Given the description of an element on the screen output the (x, y) to click on. 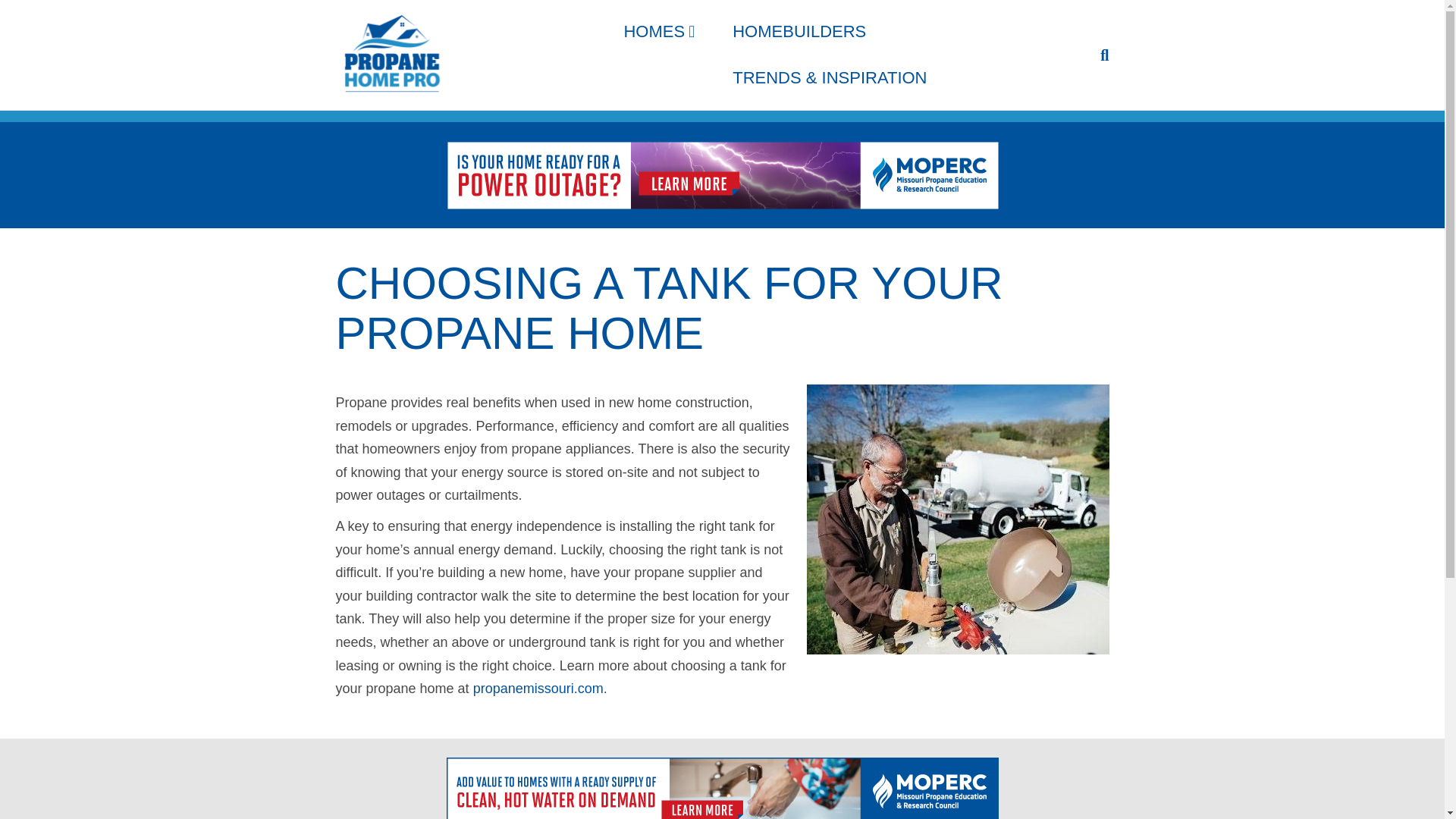
ad-moperc-clean-water-updated (721, 788)
HOMEBUILDERS (799, 32)
HOMES (658, 32)
ad-moperc-power-outage-updated (721, 174)
propanemissouri.com (538, 688)
